Given the description of an element on the screen output the (x, y) to click on. 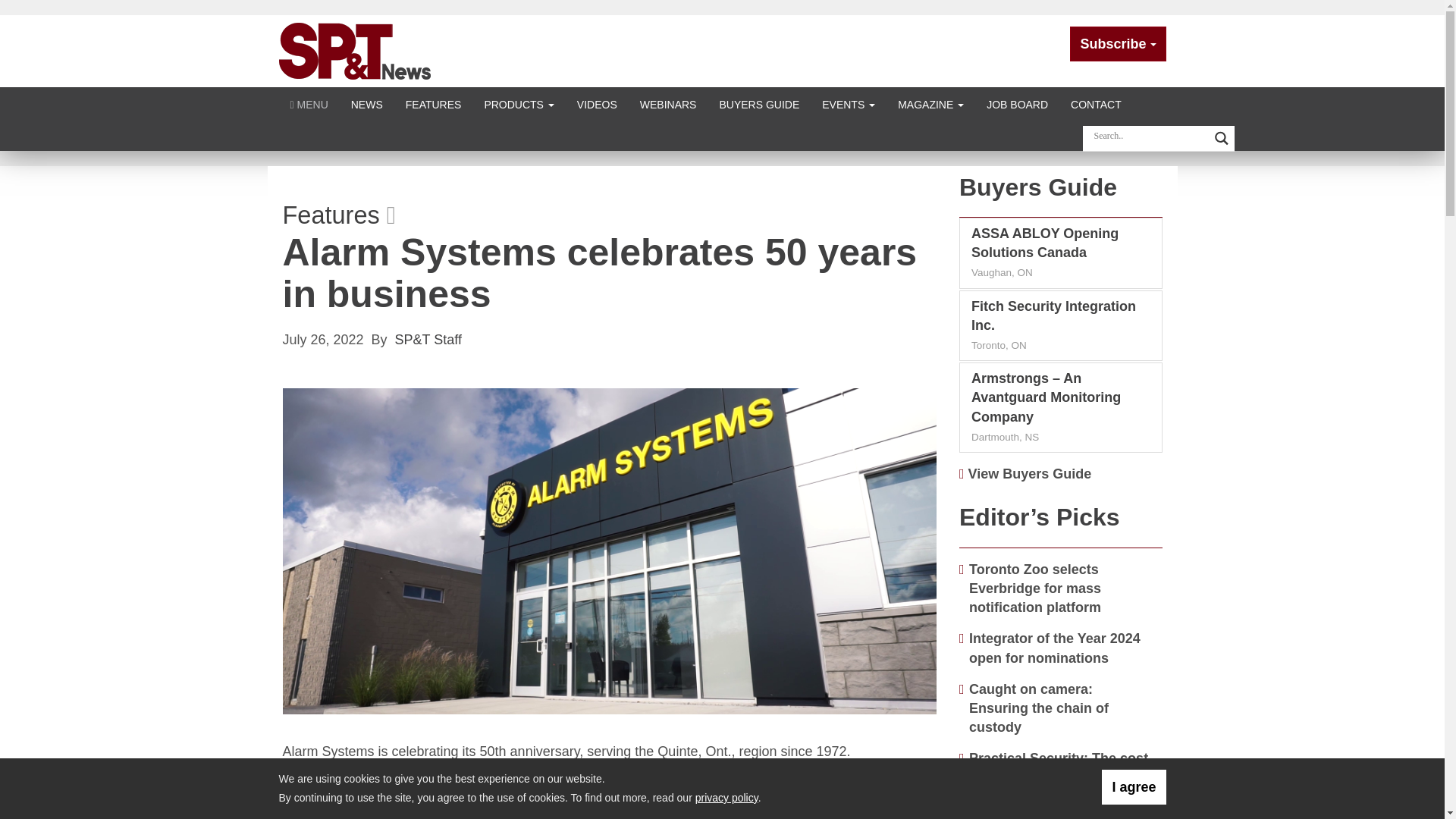
CONTACT (1095, 103)
EVENTS (848, 103)
BUYERS GUIDE (758, 103)
JOB BOARD (1017, 103)
VIDEOS (597, 103)
NEWS (366, 103)
MENU (309, 103)
MAGAZINE (930, 103)
Subscribe (1118, 43)
FEATURES (433, 103)
Click to show site navigation (309, 103)
WEBINARS (667, 103)
PRODUCTS (517, 103)
